Given the description of an element on the screen output the (x, y) to click on. 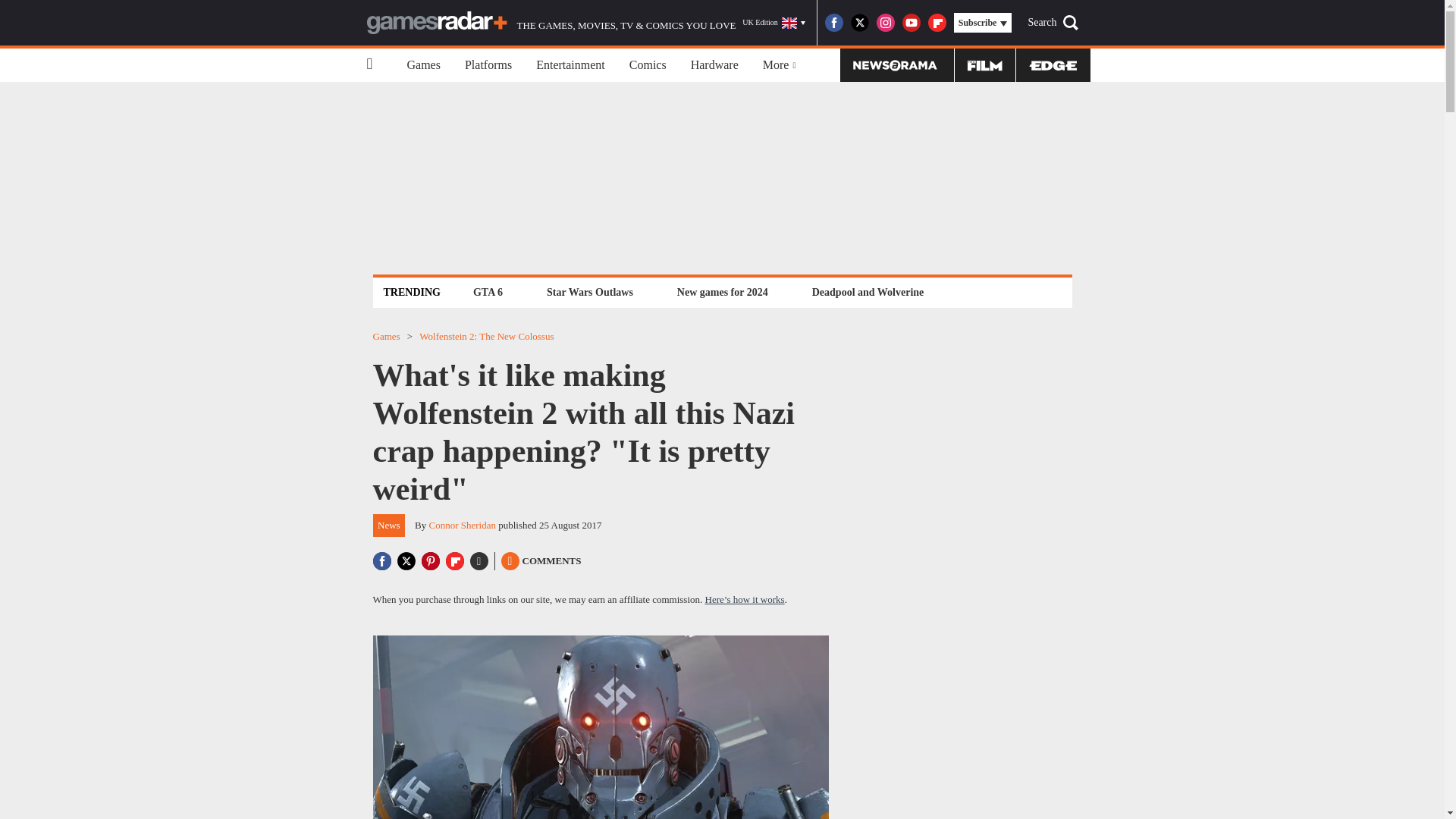
Platforms (488, 64)
Star Wars Outlaws (590, 292)
New games for 2024 (722, 292)
Deadpool and Wolverine (868, 292)
Comics (647, 64)
Hardware (714, 64)
UK Edition (773, 22)
Games (422, 64)
Entertainment (570, 64)
GTA 6 (487, 292)
